Given the description of an element on the screen output the (x, y) to click on. 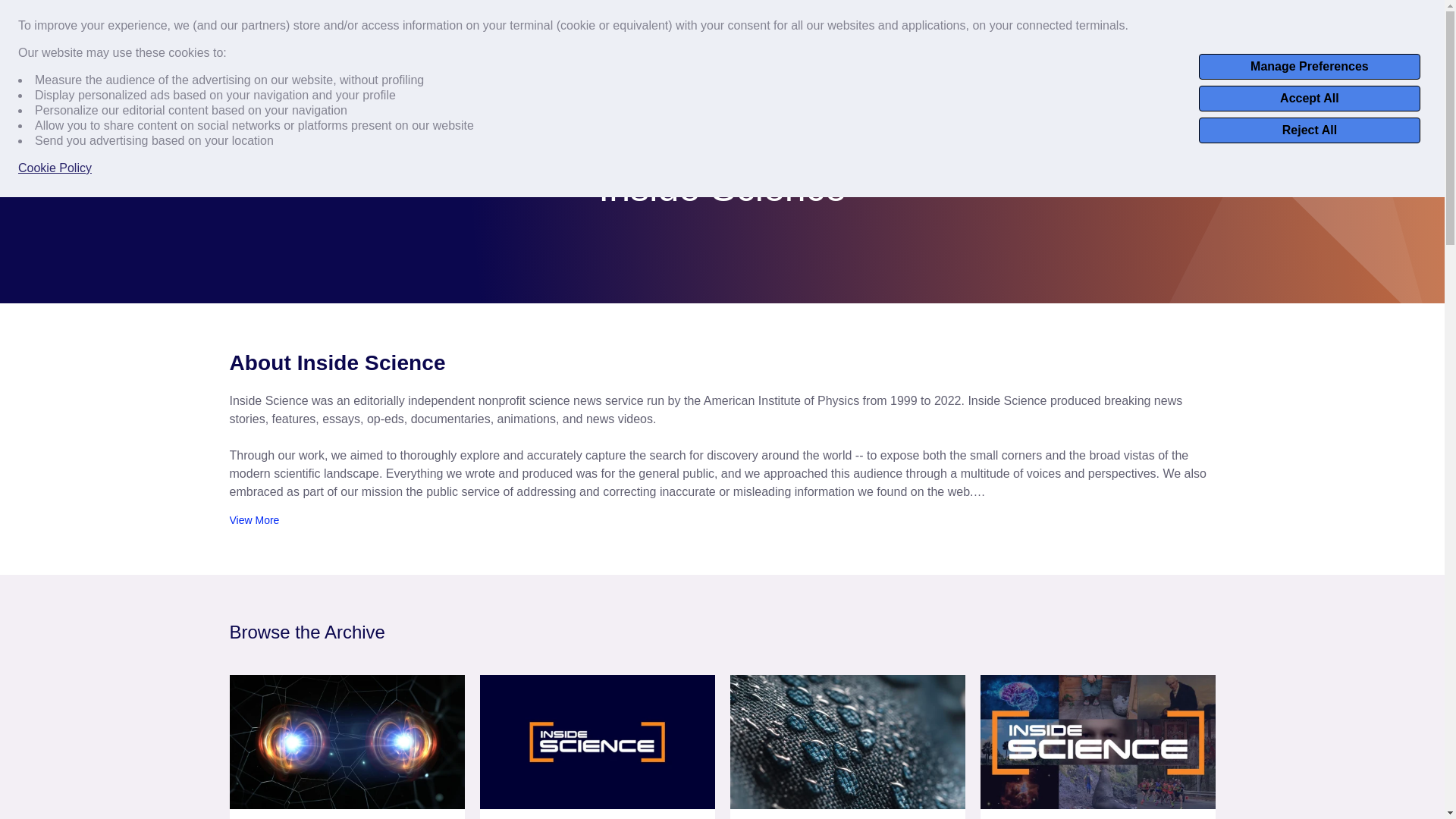
Newsletters (1339, 19)
Federation (471, 71)
Giving (1404, 19)
Accept All (1309, 98)
Manage Preferences (1309, 66)
Events (1271, 19)
Reject All (1309, 130)
Cookie Policy (54, 168)
